Given the description of an element on the screen output the (x, y) to click on. 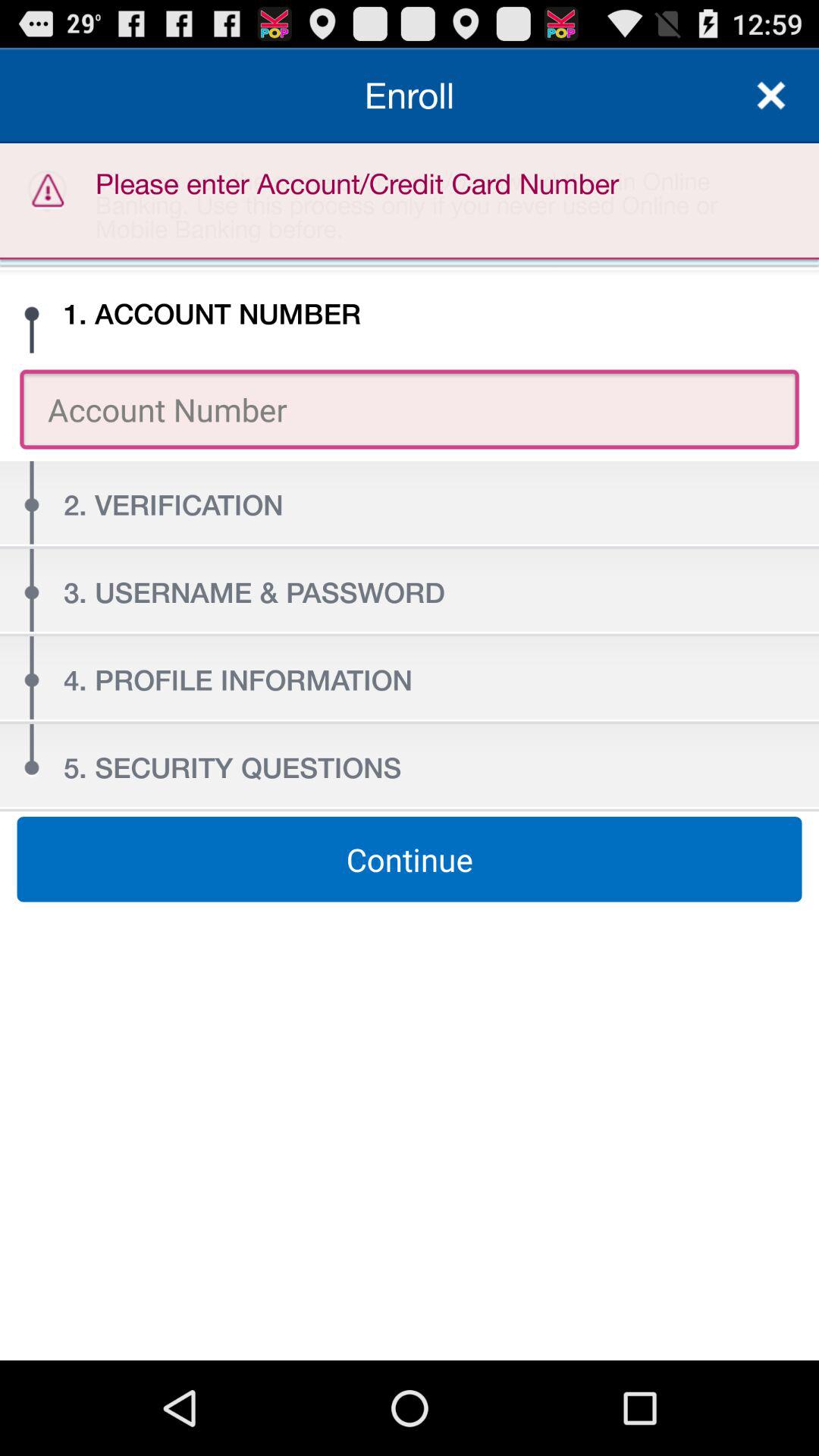
press the item above the you can use item (409, 95)
